Given the description of an element on the screen output the (x, y) to click on. 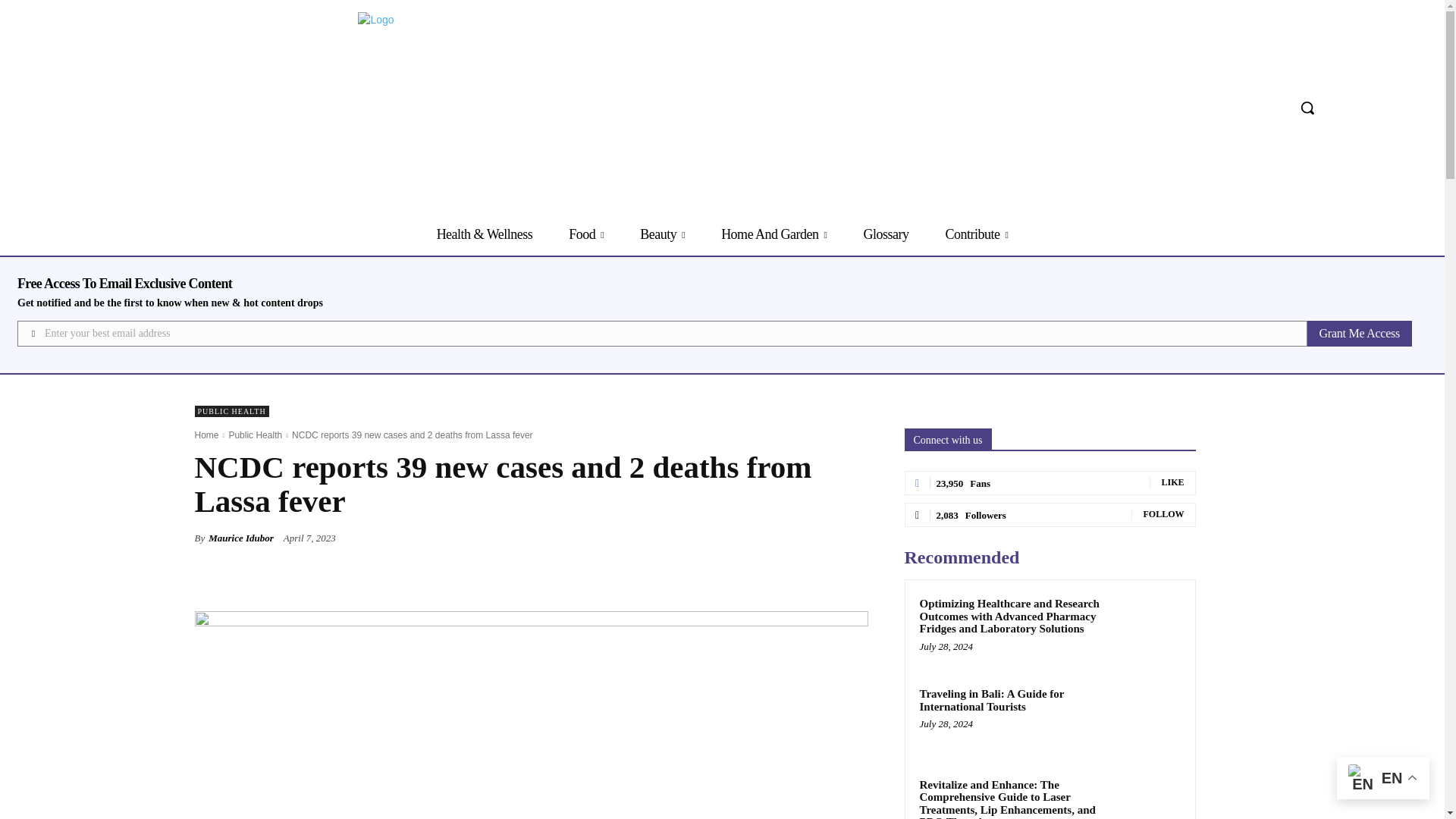
View all posts in Public Health (255, 434)
Glossary (885, 234)
Food (585, 234)
Beauty (662, 234)
Home And Garden (773, 234)
Contribute (976, 234)
